Given the description of an element on the screen output the (x, y) to click on. 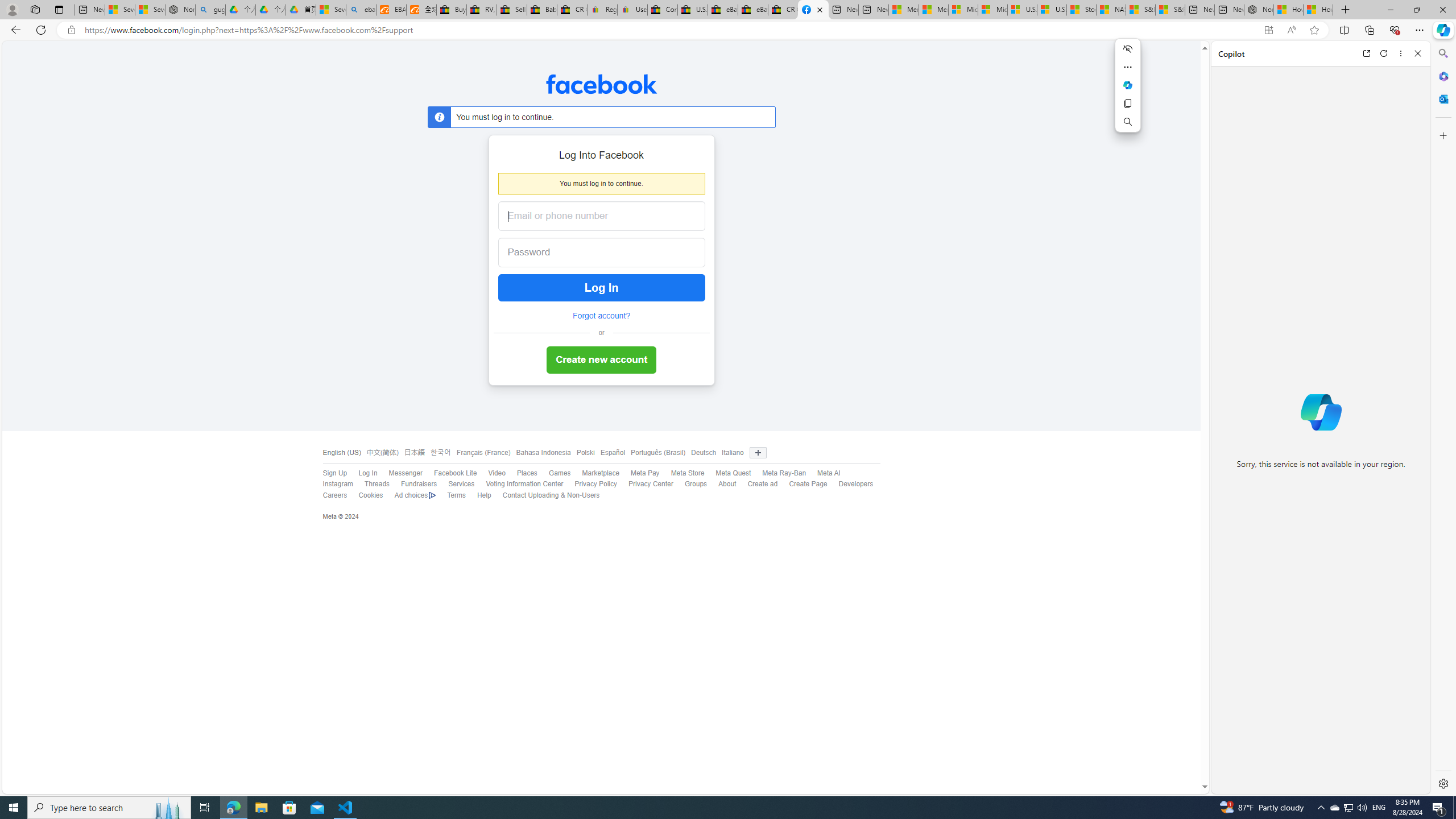
Instagram (332, 484)
Meta Store (681, 473)
Log In (367, 473)
Privacy Center (650, 483)
Messenger (399, 473)
Groups (695, 483)
Ad choices (409, 495)
App available. Install Facebook (1268, 29)
guge yunpan - Search (210, 9)
